Given the description of an element on the screen output the (x, y) to click on. 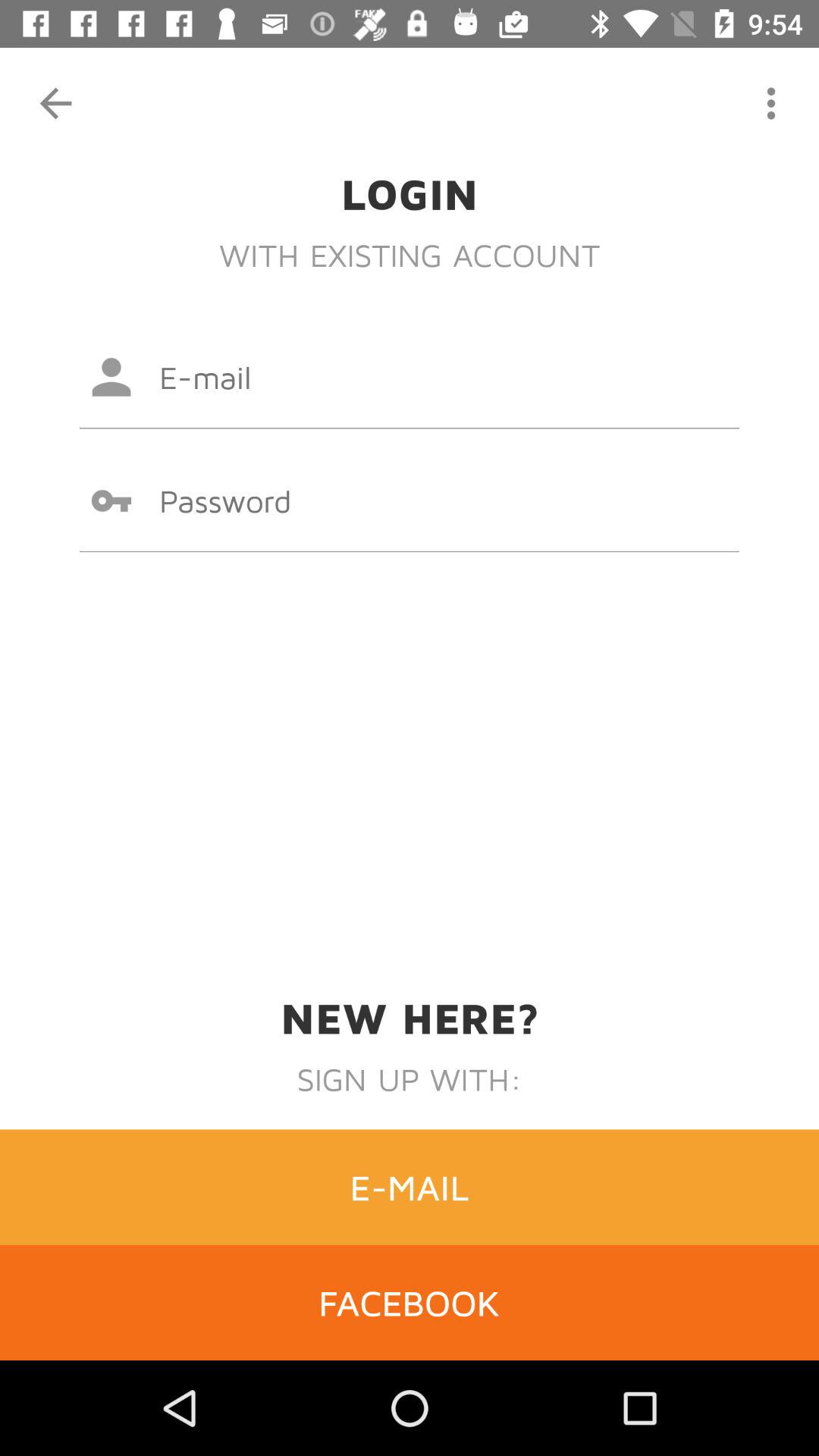
open item above login icon (55, 103)
